Given the description of an element on the screen output the (x, y) to click on. 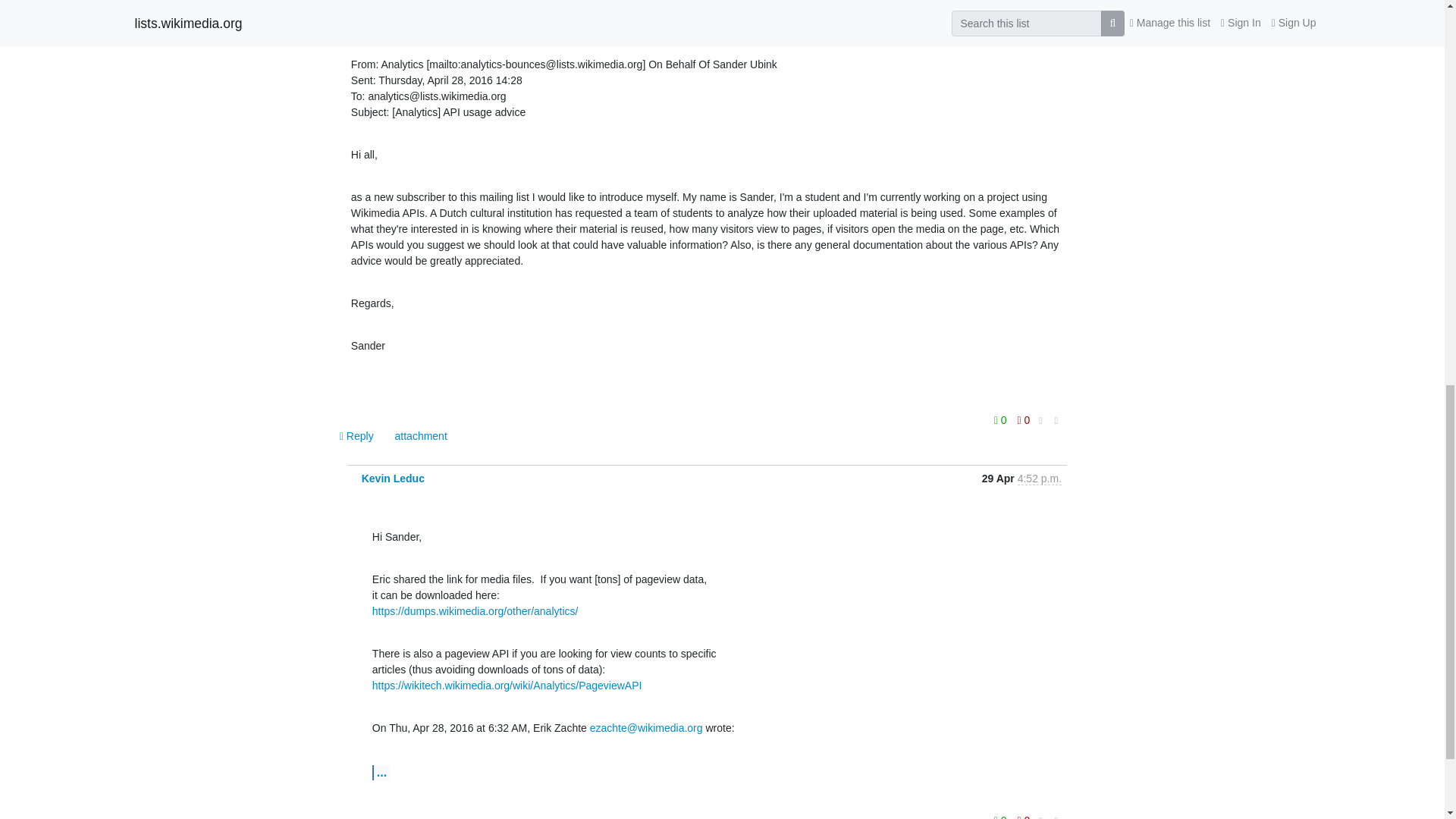
You must be logged-in to vote. (1001, 419)
Sign in to reply online (357, 435)
You must be logged-in to vote. (1023, 419)
See the profile for Kevin Leduc (393, 478)
